Given the description of an element on the screen output the (x, y) to click on. 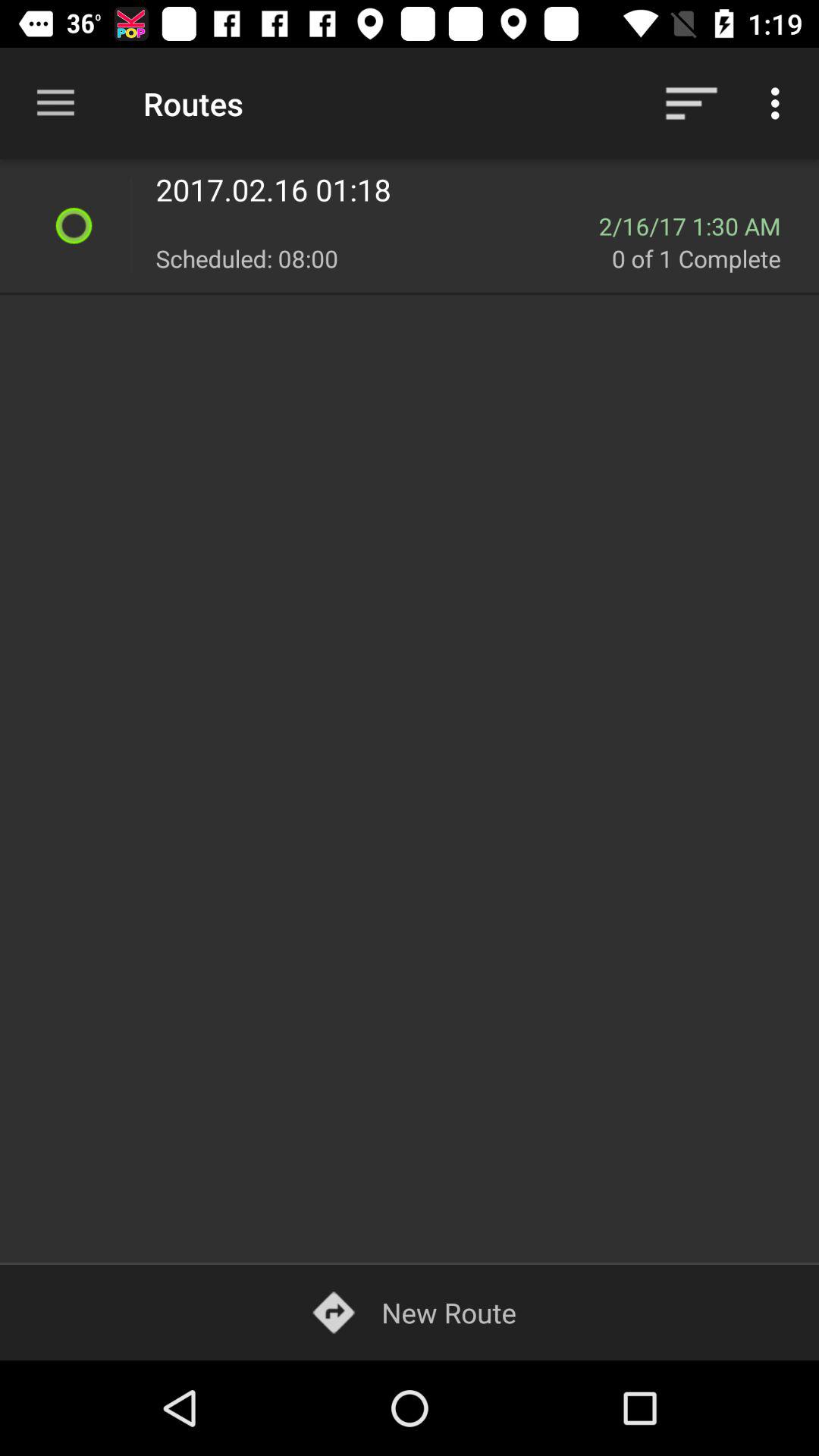
choose item above 2017 02 16 (691, 103)
